Given the description of an element on the screen output the (x, y) to click on. 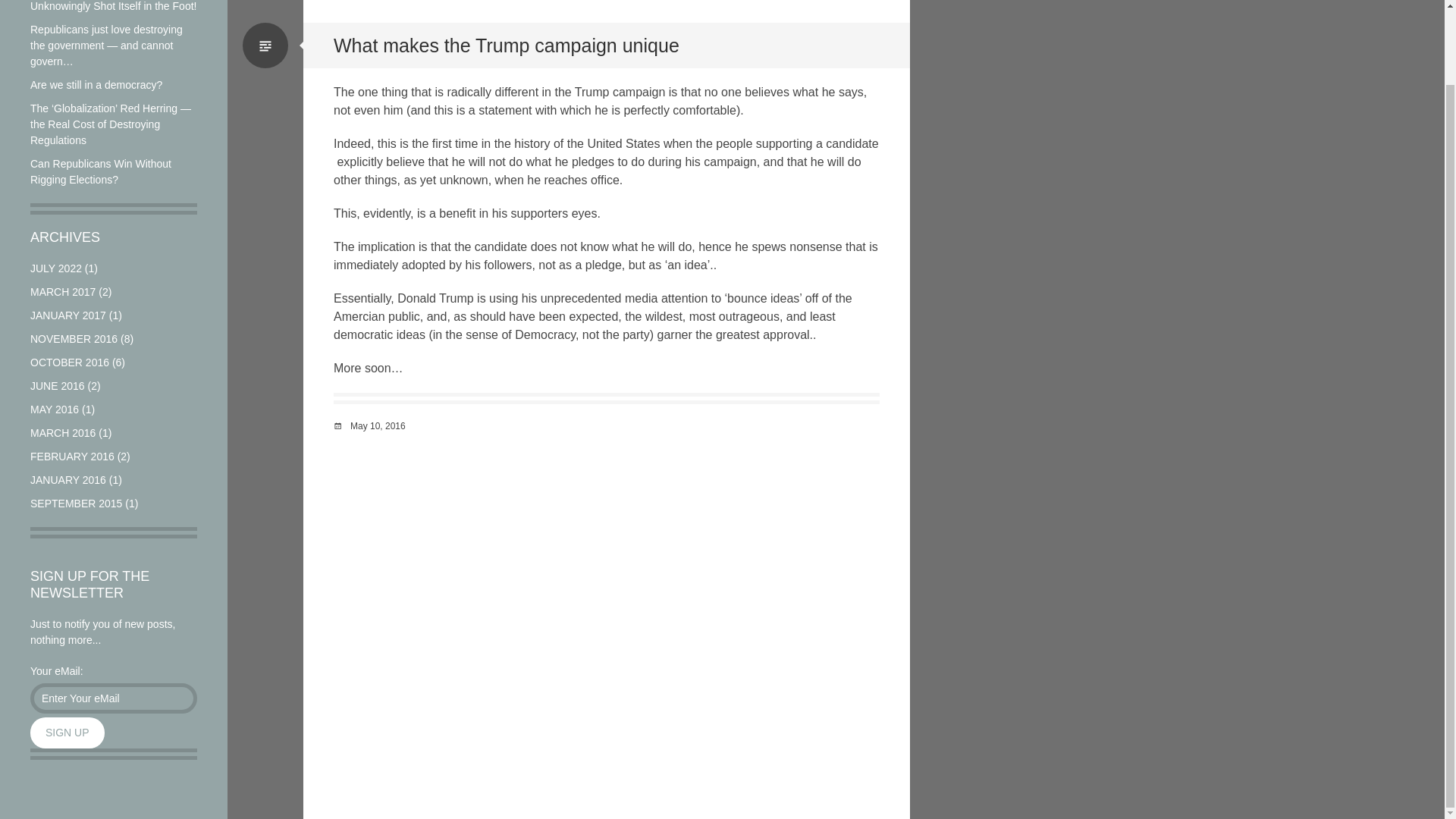
This Supreme Court Has Unknowingly Shot Itself in the Foot! (113, 6)
JANUARY 2016 (68, 480)
MAY 2016 (54, 409)
Are we still in a democracy? (95, 84)
Can Republicans Win Without Rigging Elections? (100, 171)
What makes the Trump campaign unique (506, 45)
JANUARY 2017 (68, 315)
May 10, 2016 (378, 425)
Sign Up (67, 732)
SEPTEMBER 2015 (76, 503)
